Given the description of an element on the screen output the (x, y) to click on. 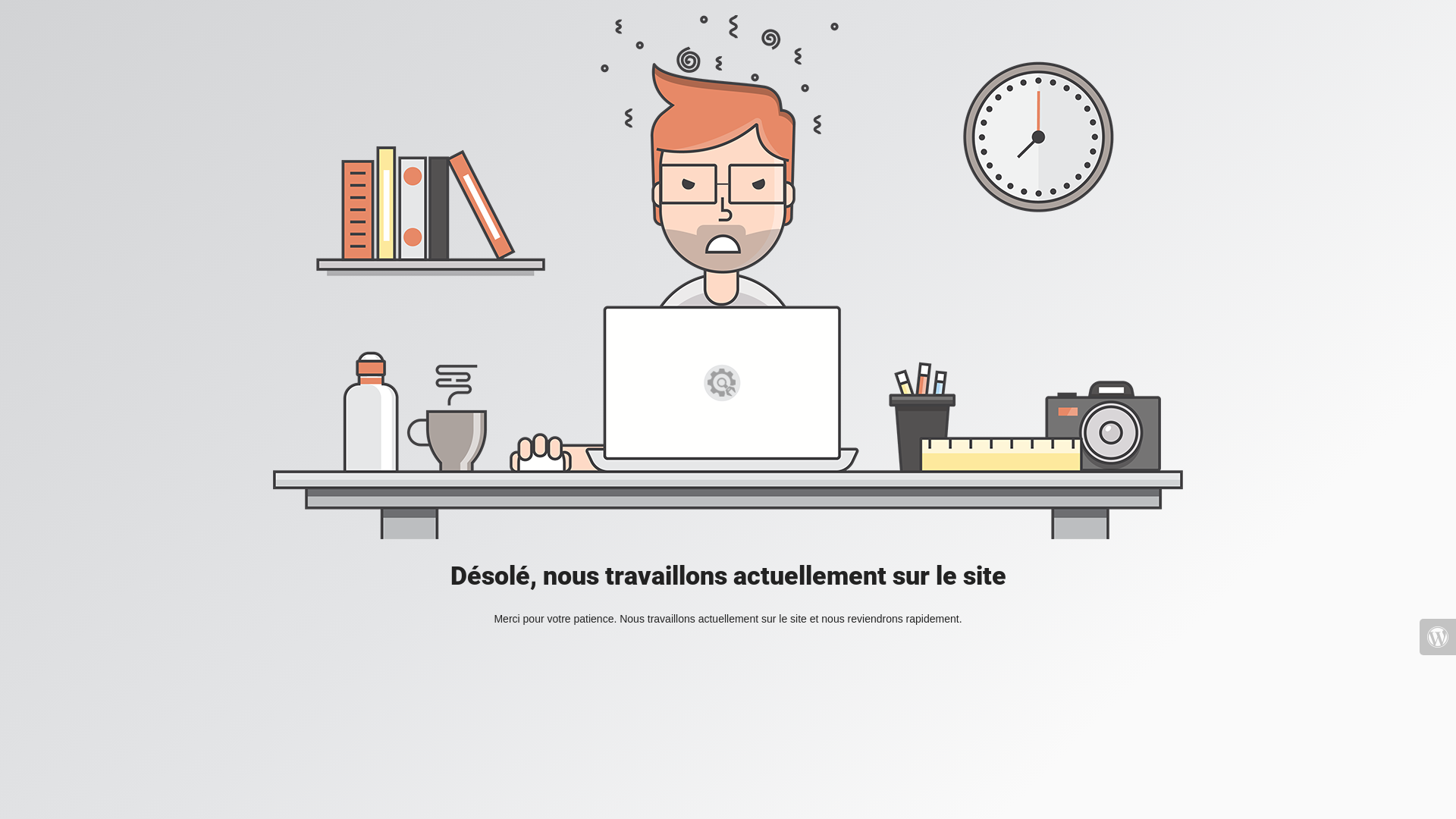
Mad Designer at work Element type: hover (728, 277)
